Given the description of an element on the screen output the (x, y) to click on. 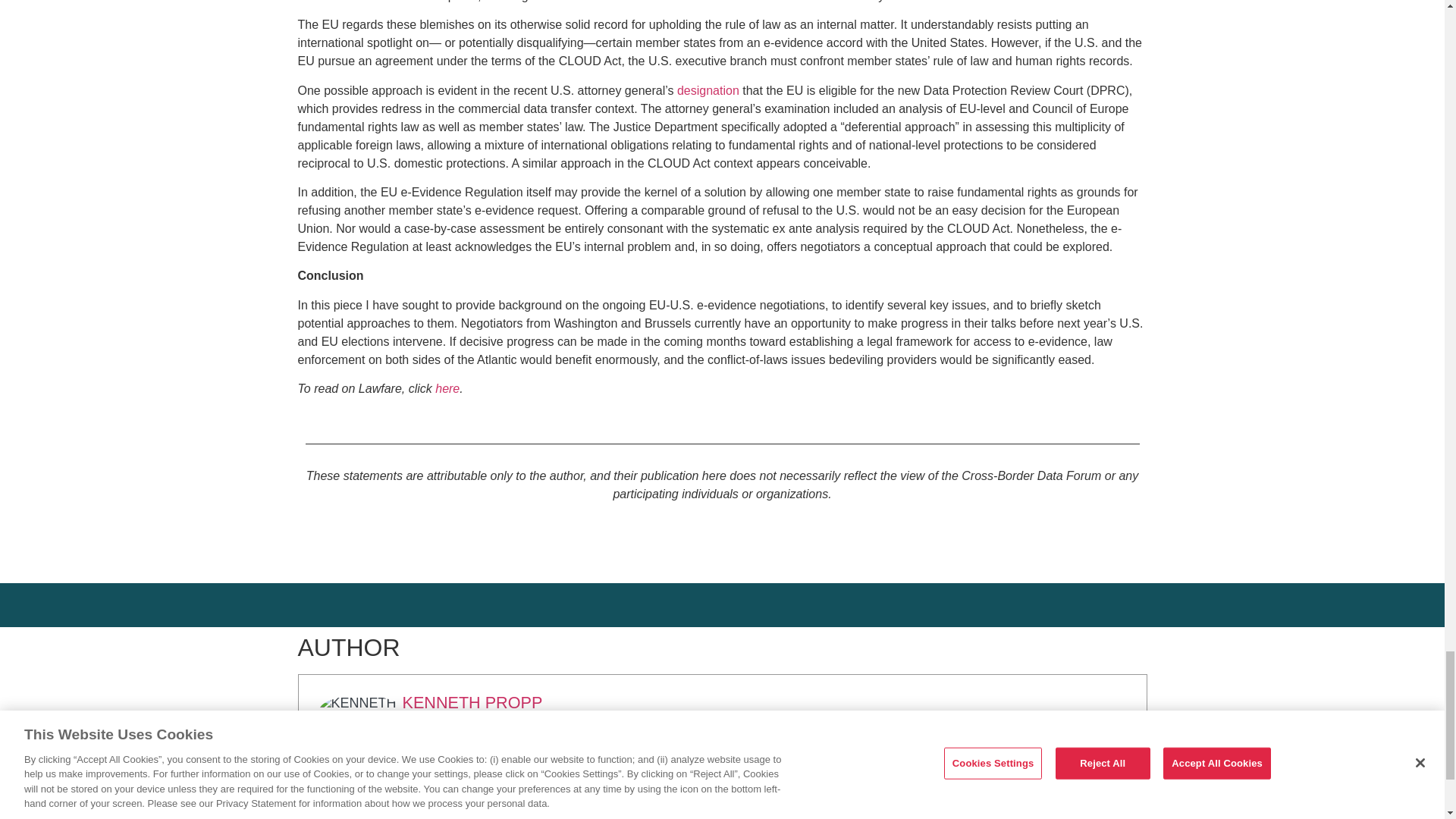
Kenneth Propp (471, 701)
View all posts (461, 738)
